Given the description of an element on the screen output the (x, y) to click on. 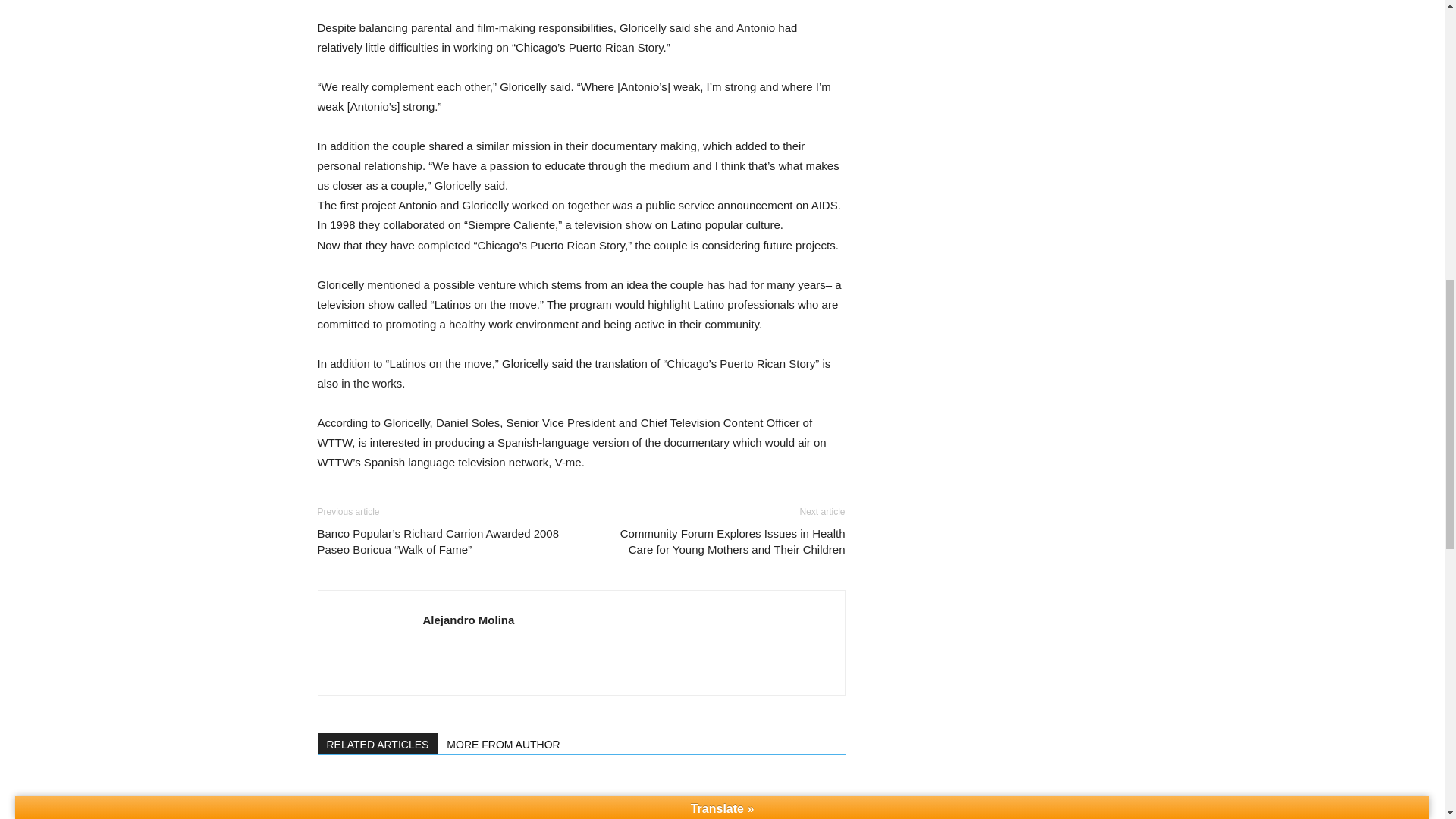
RELATED ARTICLES (377, 742)
Alejandro Molina (469, 619)
MORE FROM AUTHOR (503, 742)
